Given the description of an element on the screen output the (x, y) to click on. 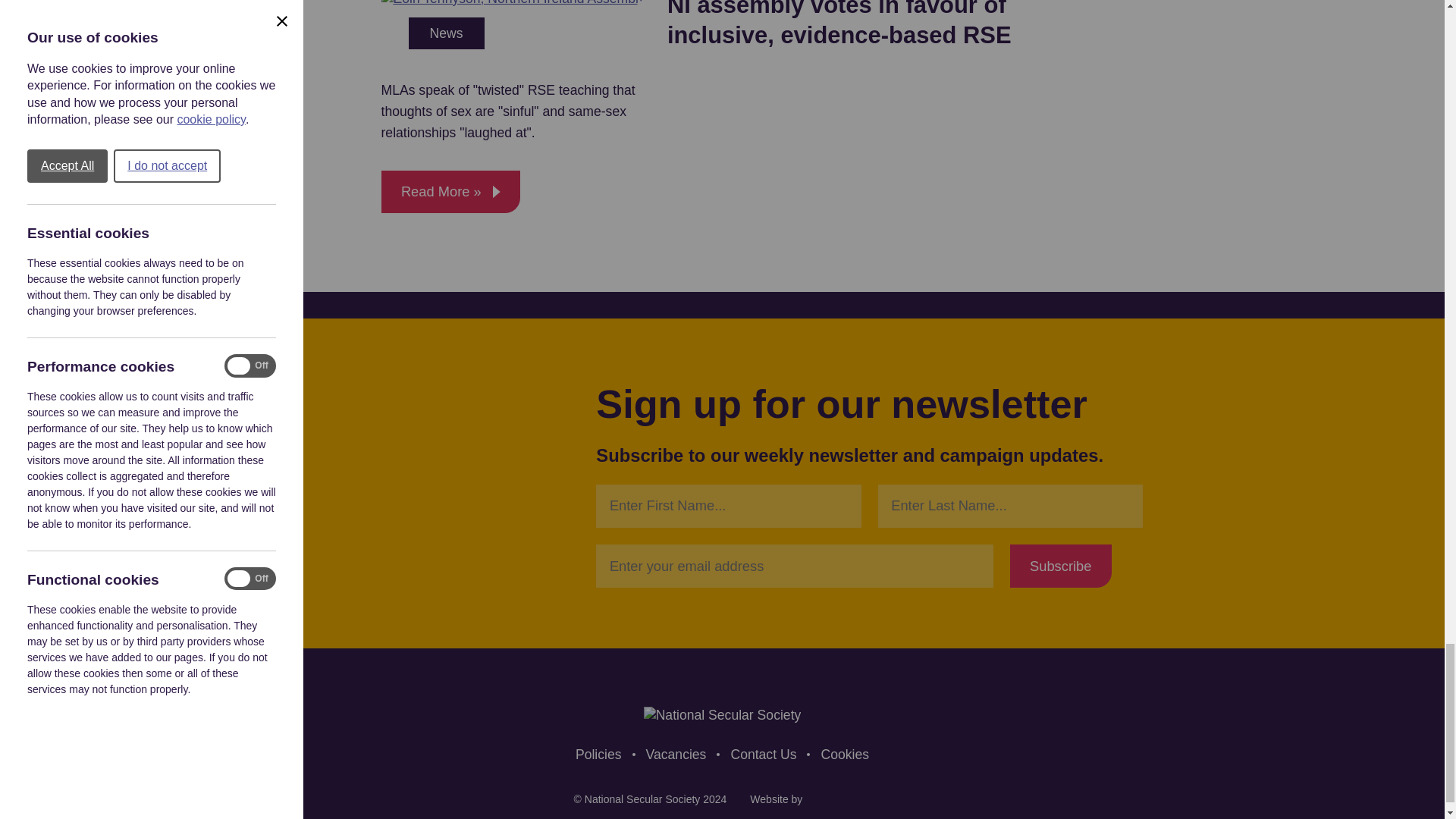
Logo (722, 714)
Subscribe (1061, 566)
